Given the description of an element on the screen output the (x, y) to click on. 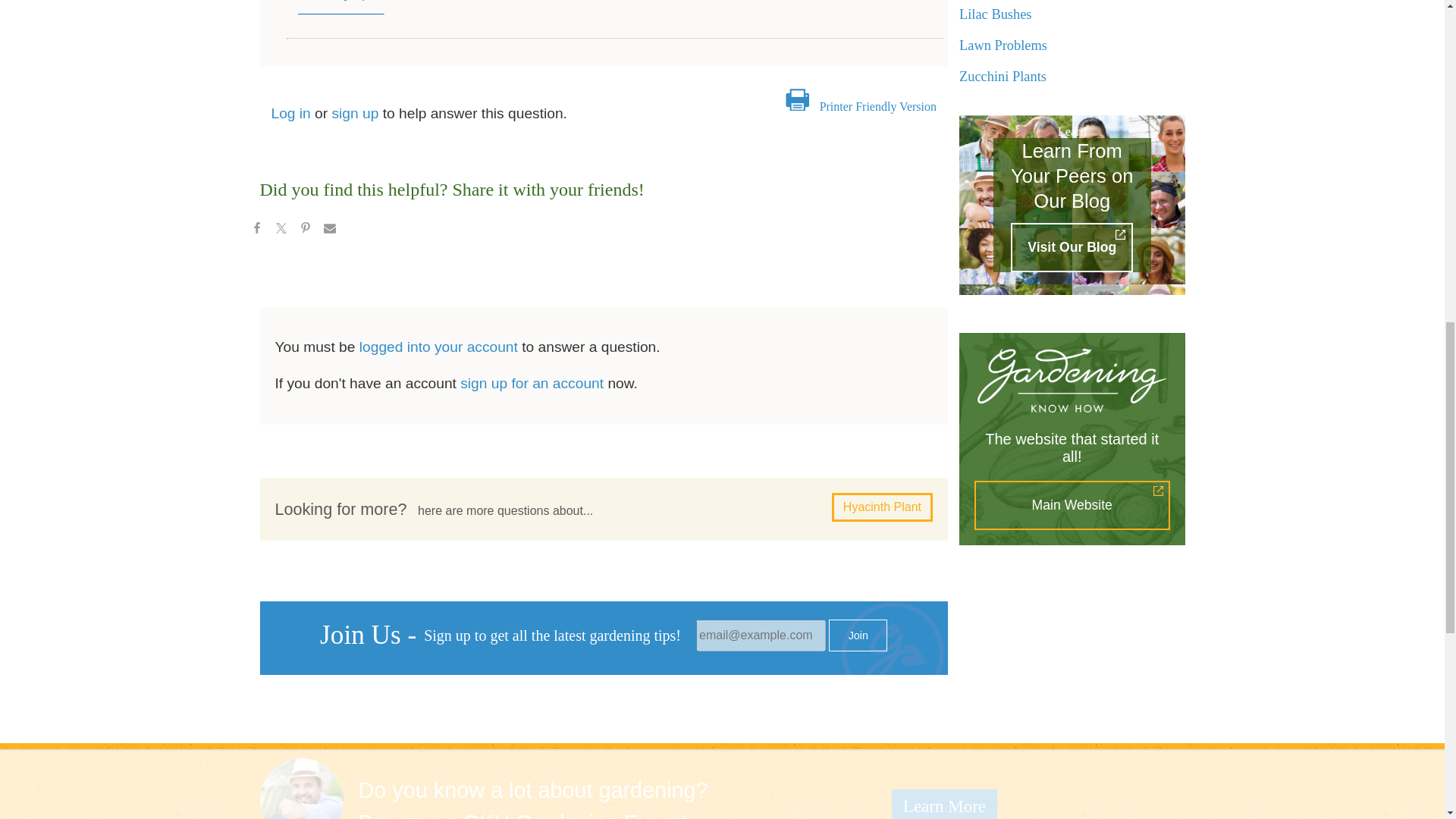
sign up for an account (532, 383)
Share on Pinterest (304, 230)
Share via Email (328, 230)
Log in (290, 113)
logged into your account (438, 346)
Hyacinth Plant (882, 507)
sign up (354, 113)
Share on Twitter (279, 230)
Printer Friendly Version (877, 106)
Share on Facebook (255, 230)
Join (857, 635)
Printer Friendly Version (877, 106)
